Given the description of an element on the screen output the (x, y) to click on. 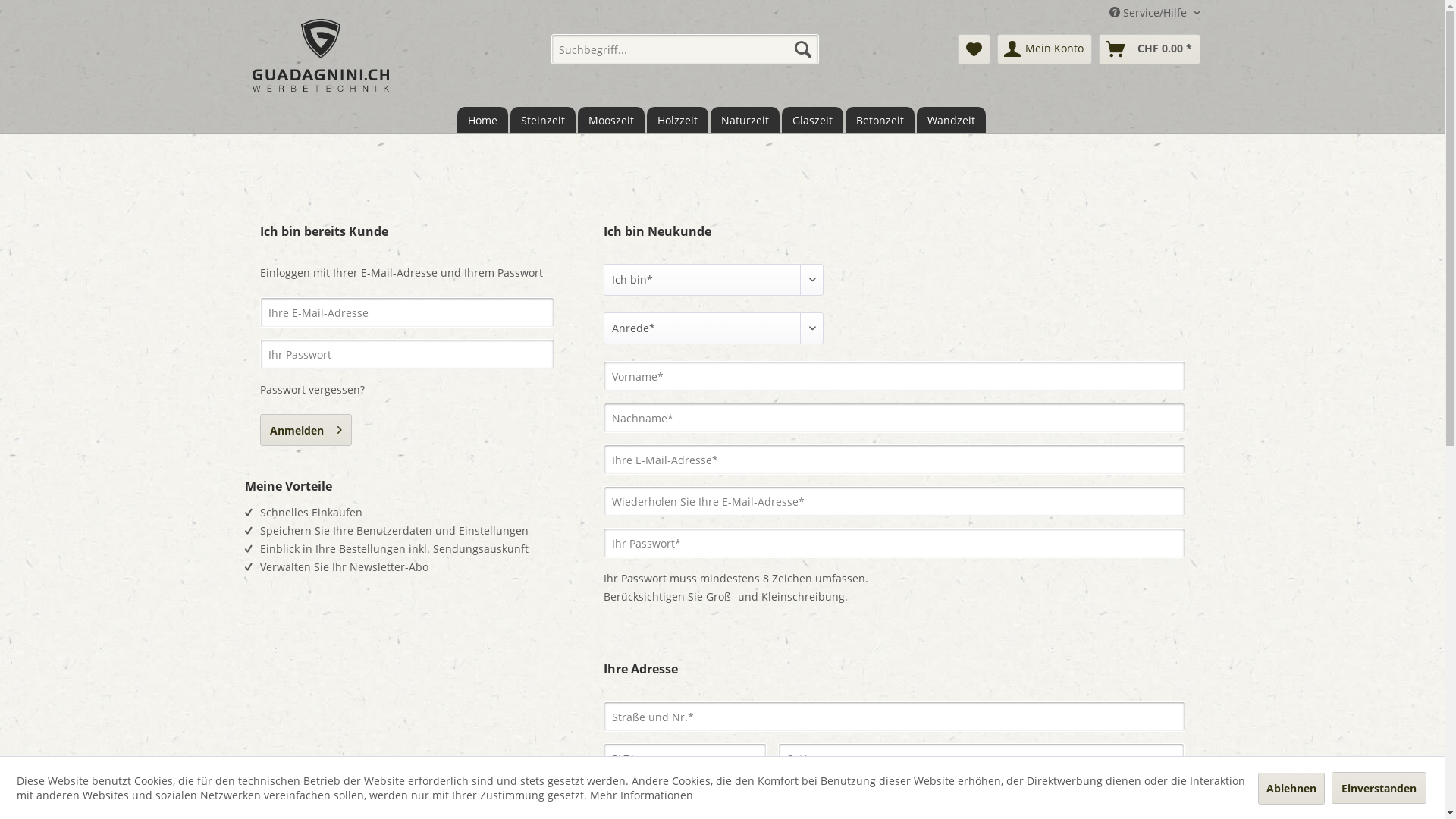
Anmelden Element type: text (305, 429)
Holzzeit Element type: text (676, 119)
Mehr Informationen Element type: text (641, 794)
CHF 0.00 * Element type: text (1148, 49)
guadagnini.raumzeit.cc - zur Startseite wechseln Element type: hover (319, 54)
Merkzettel Element type: hover (973, 49)
Glaszeit Element type: text (811, 119)
Naturzeit Element type: text (743, 119)
Mooszeit Element type: text (610, 119)
Einverstanden Element type: text (1378, 787)
Ablehnen Element type: text (1291, 788)
Mein Konto Element type: text (1043, 49)
Home Element type: text (481, 119)
Betonzeit Element type: text (878, 119)
Wandzeit Element type: text (950, 119)
Passwort vergessen? Element type: text (311, 389)
Steinzeit Element type: text (541, 119)
